Given the description of an element on the screen output the (x, y) to click on. 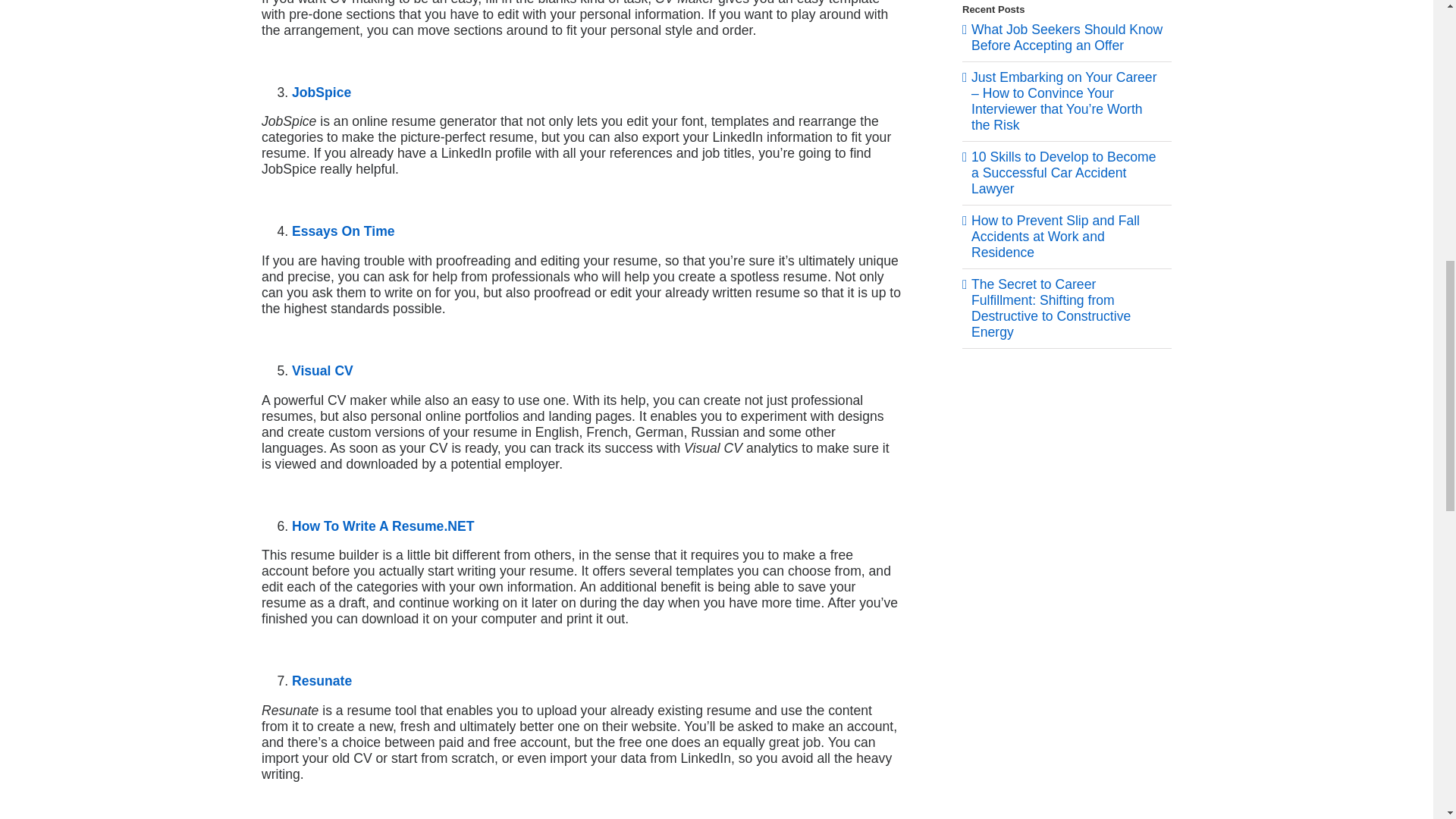
Essays On Time (343, 231)
How To Write A Resume.NET (383, 525)
Resunate (322, 680)
Visual CV (322, 370)
JobSpice (321, 92)
